Given the description of an element on the screen output the (x, y) to click on. 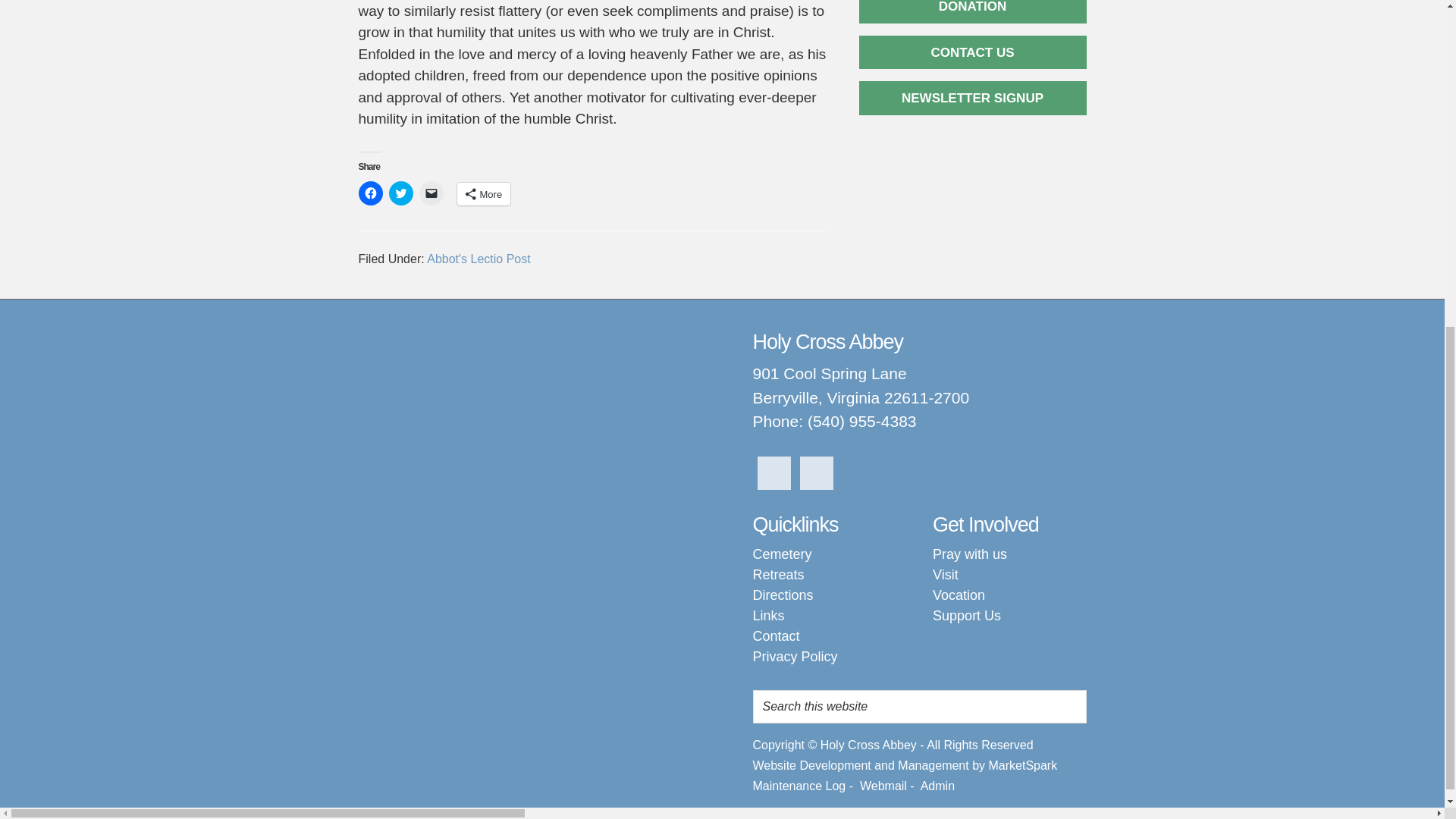
Click to share on Twitter (400, 192)
Click to email a link to a friend (430, 192)
Click to share on Facebook (369, 192)
